Given the description of an element on the screen output the (x, y) to click on. 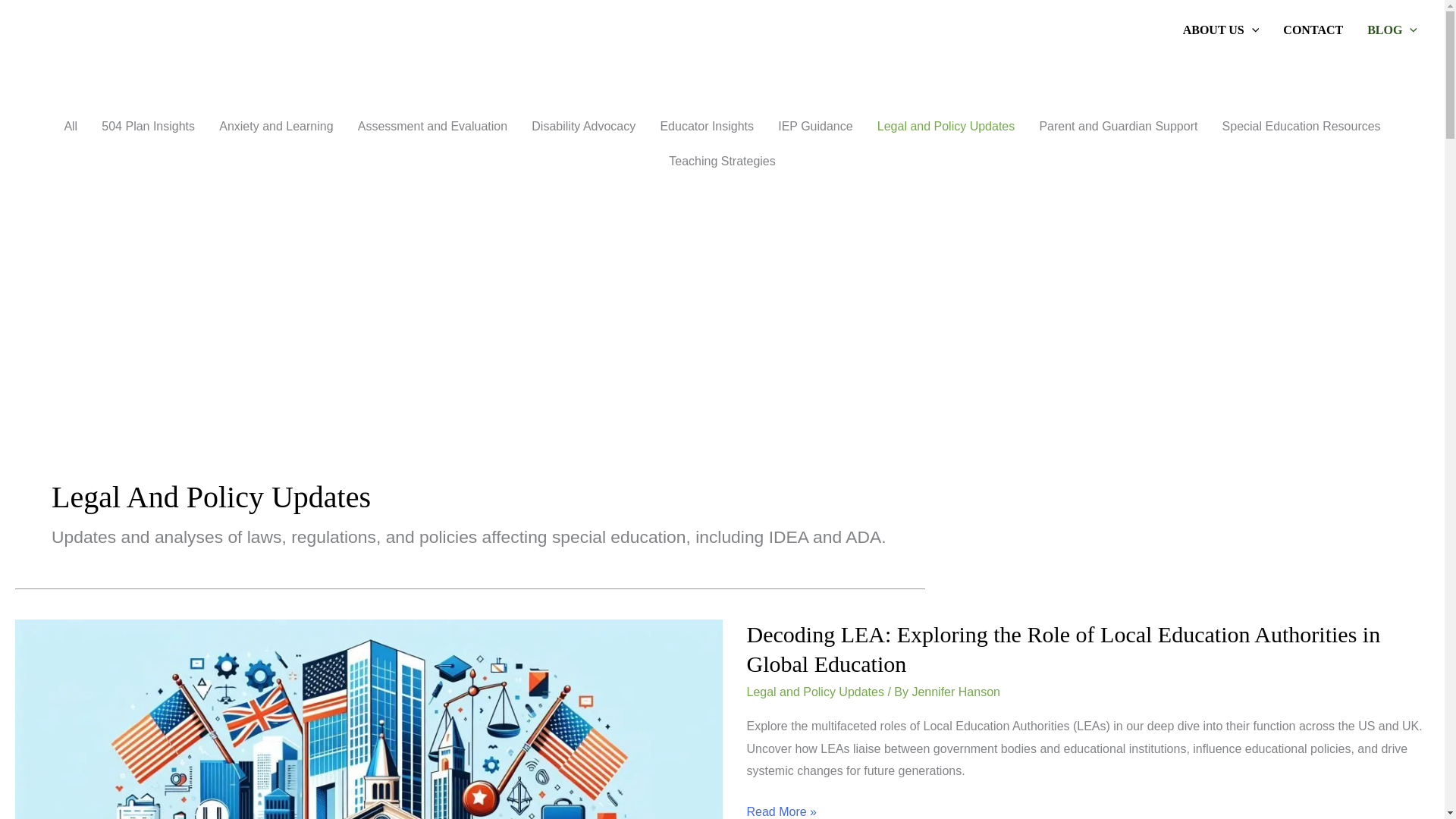
ABOUT US (1220, 30)
CONTACT (1313, 30)
Jennifer Hanson (955, 691)
View all posts by Jennifer Hanson (955, 691)
BLOG (1392, 30)
Legal and Policy Updates (814, 691)
